Given the description of an element on the screen output the (x, y) to click on. 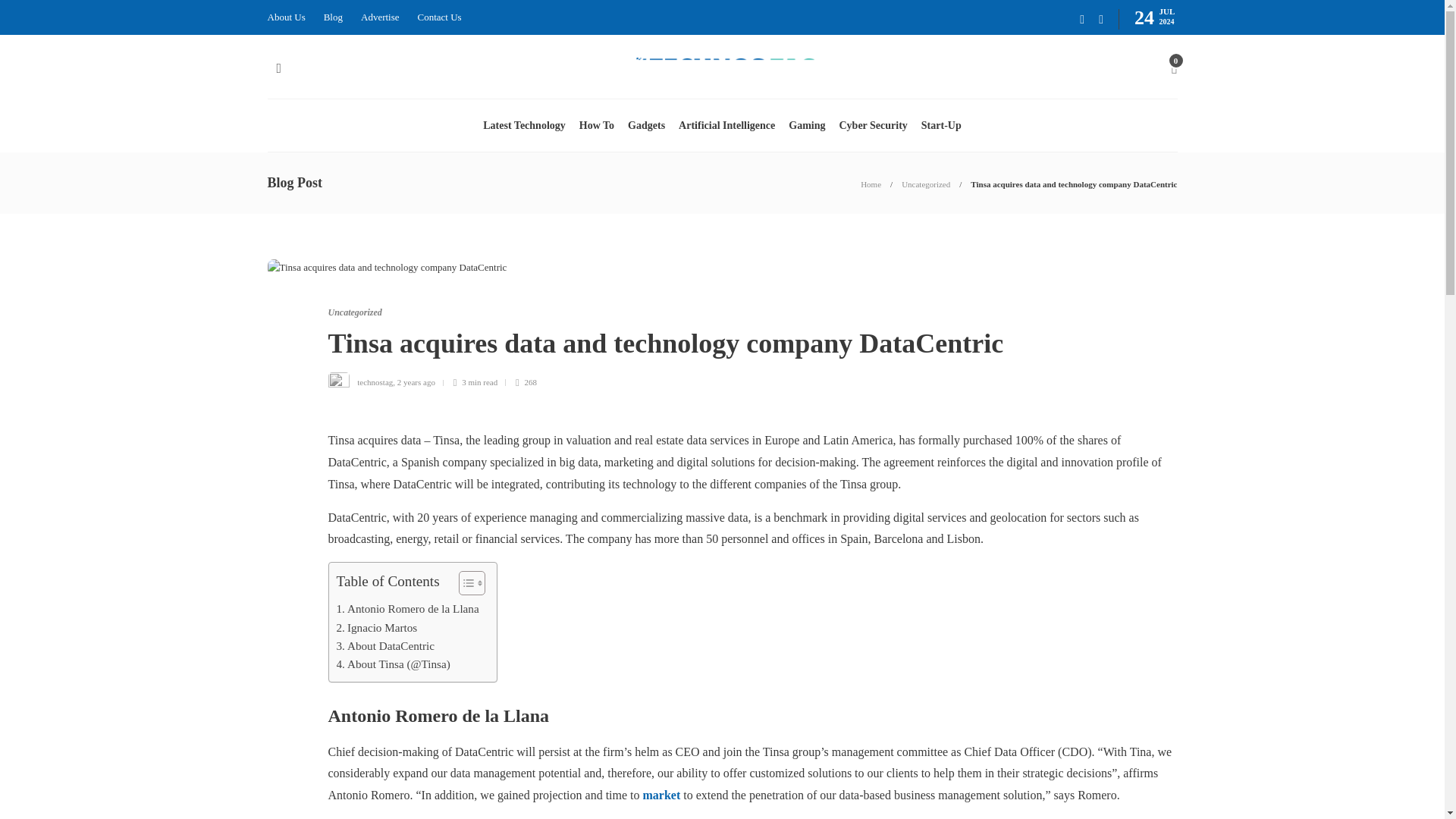
market (662, 794)
About DataCentric (385, 646)
Antonio Romero de la Llana (407, 608)
Artificial Intelligence (726, 125)
Latest Technology (524, 125)
Home (870, 184)
Uncategorized (354, 312)
Ignacio Martos (376, 628)
Tinsa acquires data and technology company DataCentric (1073, 184)
Ignacio Martos (376, 628)
technostag (374, 381)
Home (870, 184)
Advertise (379, 17)
2 years ago (416, 381)
About DataCentric (385, 646)
